Given the description of an element on the screen output the (x, y) to click on. 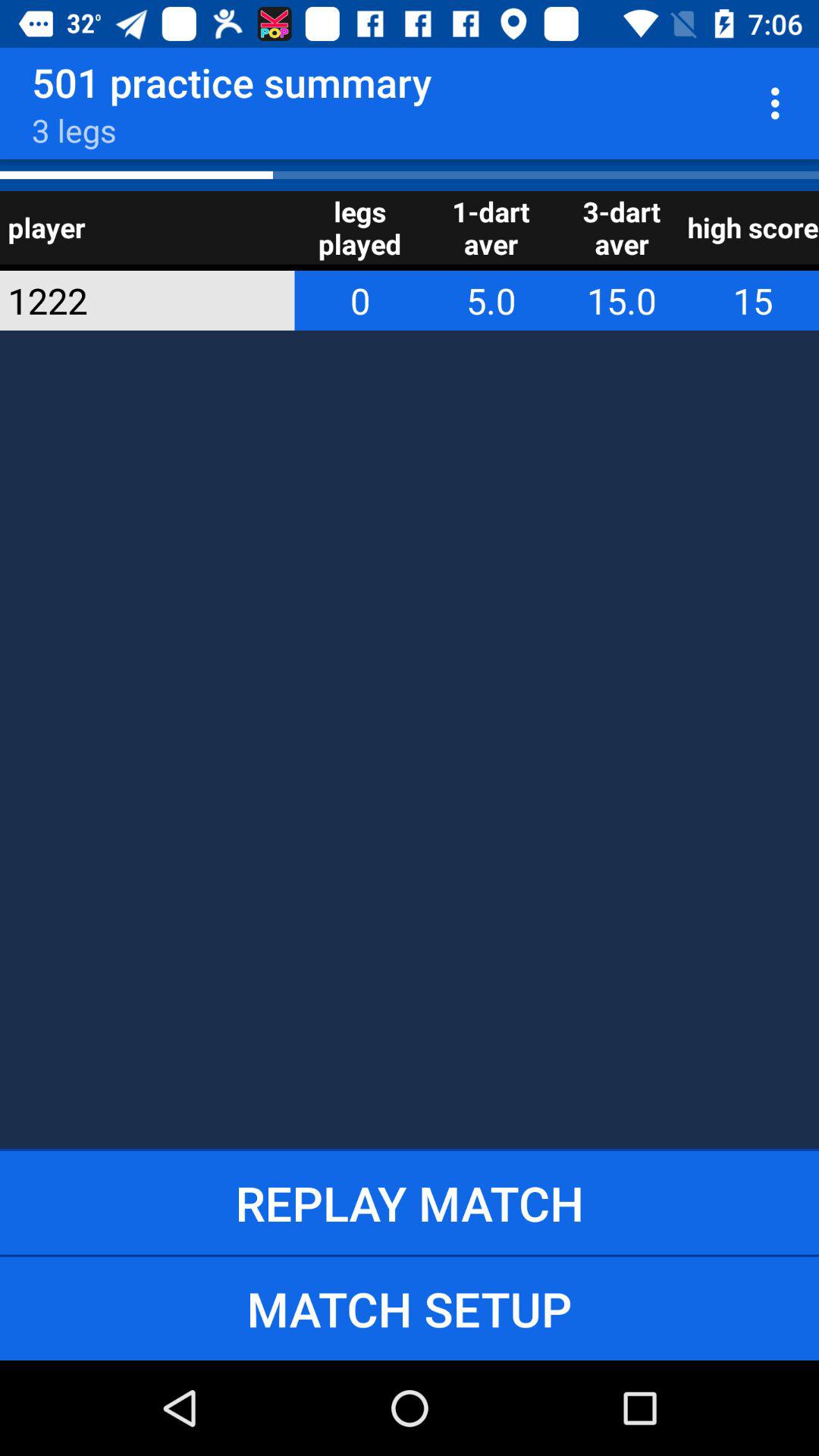
press the item below 1222 app (409, 1202)
